Given the description of an element on the screen output the (x, y) to click on. 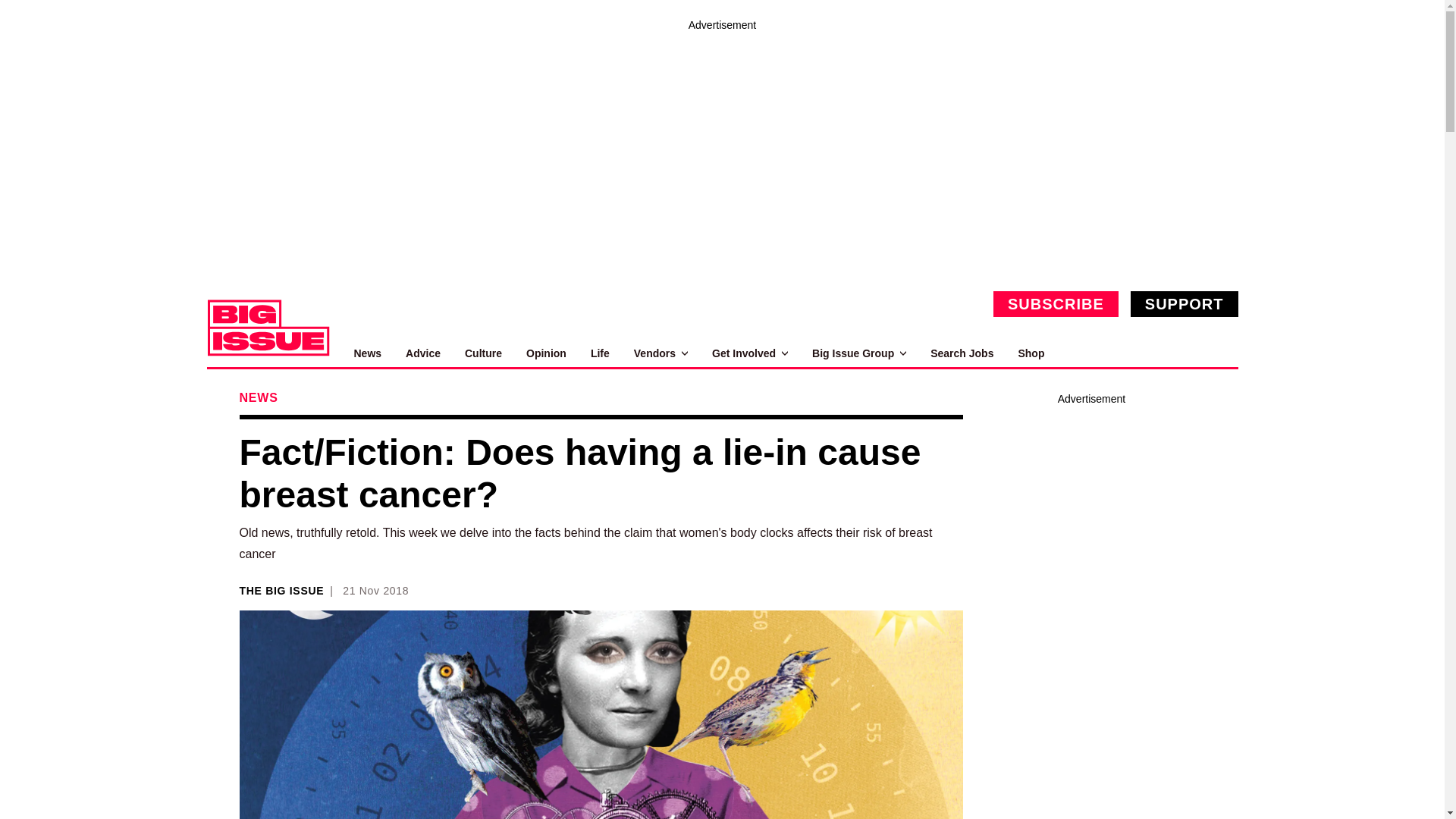
Get Involved (749, 353)
Vendors (660, 353)
Opinion (545, 353)
Advice (423, 353)
SUBSCRIBE (1055, 303)
SUPPORT (1185, 303)
Big Issue Group (858, 353)
Search (1220, 353)
Search Jobs (961, 353)
Support (1185, 303)
